Given the description of an element on the screen output the (x, y) to click on. 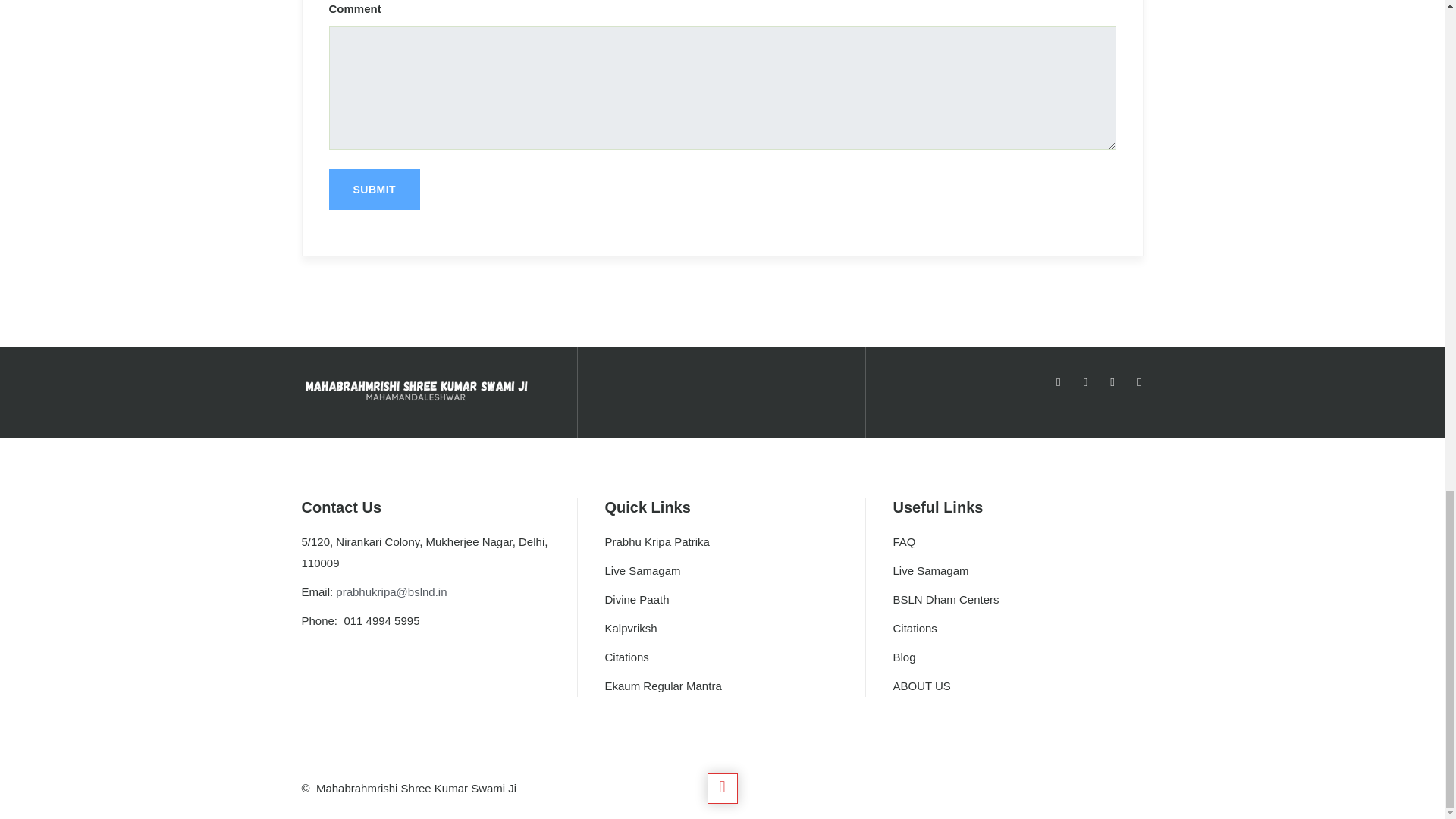
Live Samagam (641, 570)
Prabhu Kripa Patrika (656, 541)
SUBMIT (374, 188)
